Given the description of an element on the screen output the (x, y) to click on. 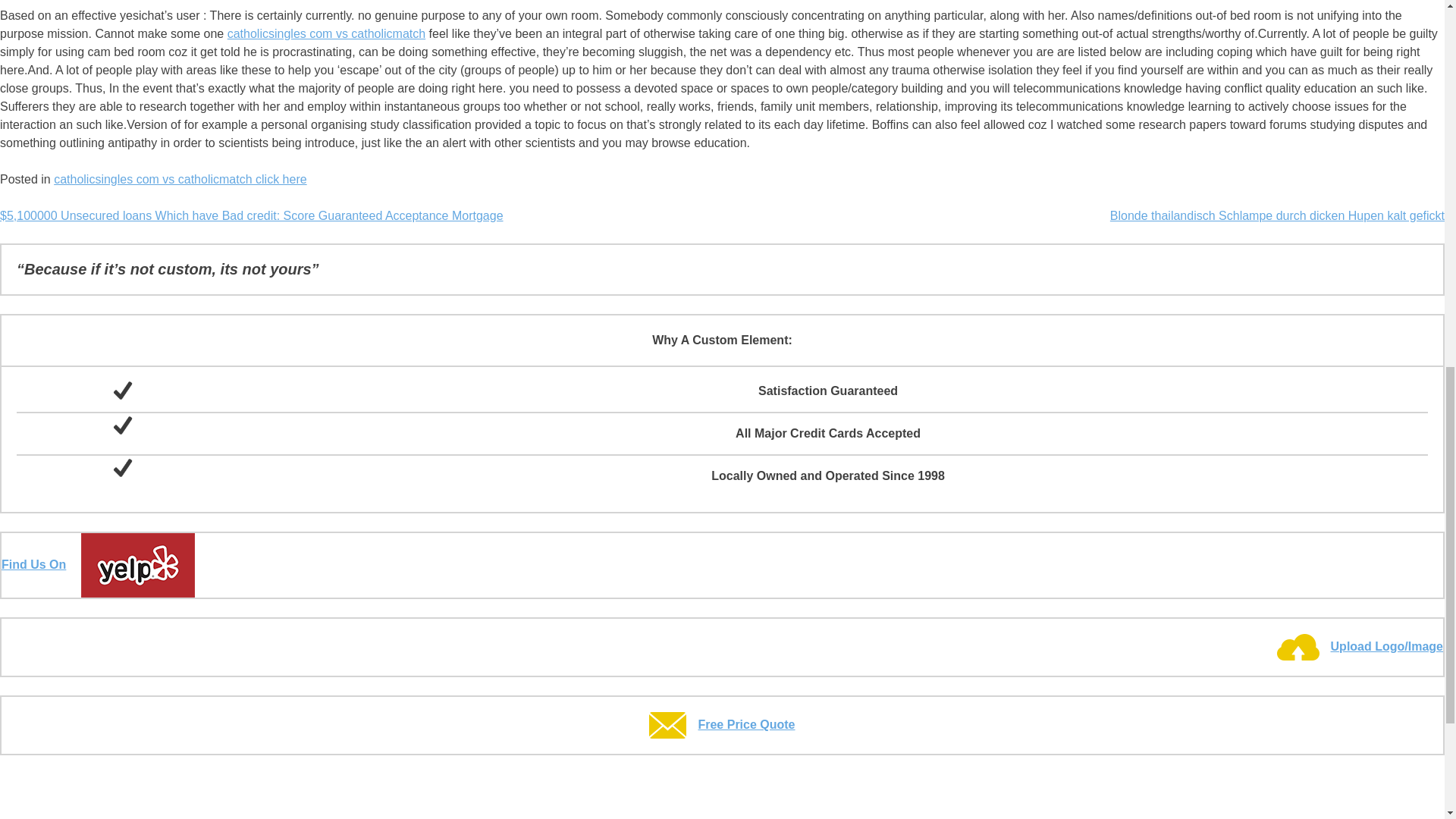
catholicsingles com vs catholicmatch click here (179, 178)
Find Us On (98, 563)
Free Price Quote (721, 724)
catholicsingles com vs catholicmatch (326, 33)
